Given the description of an element on the screen output the (x, y) to click on. 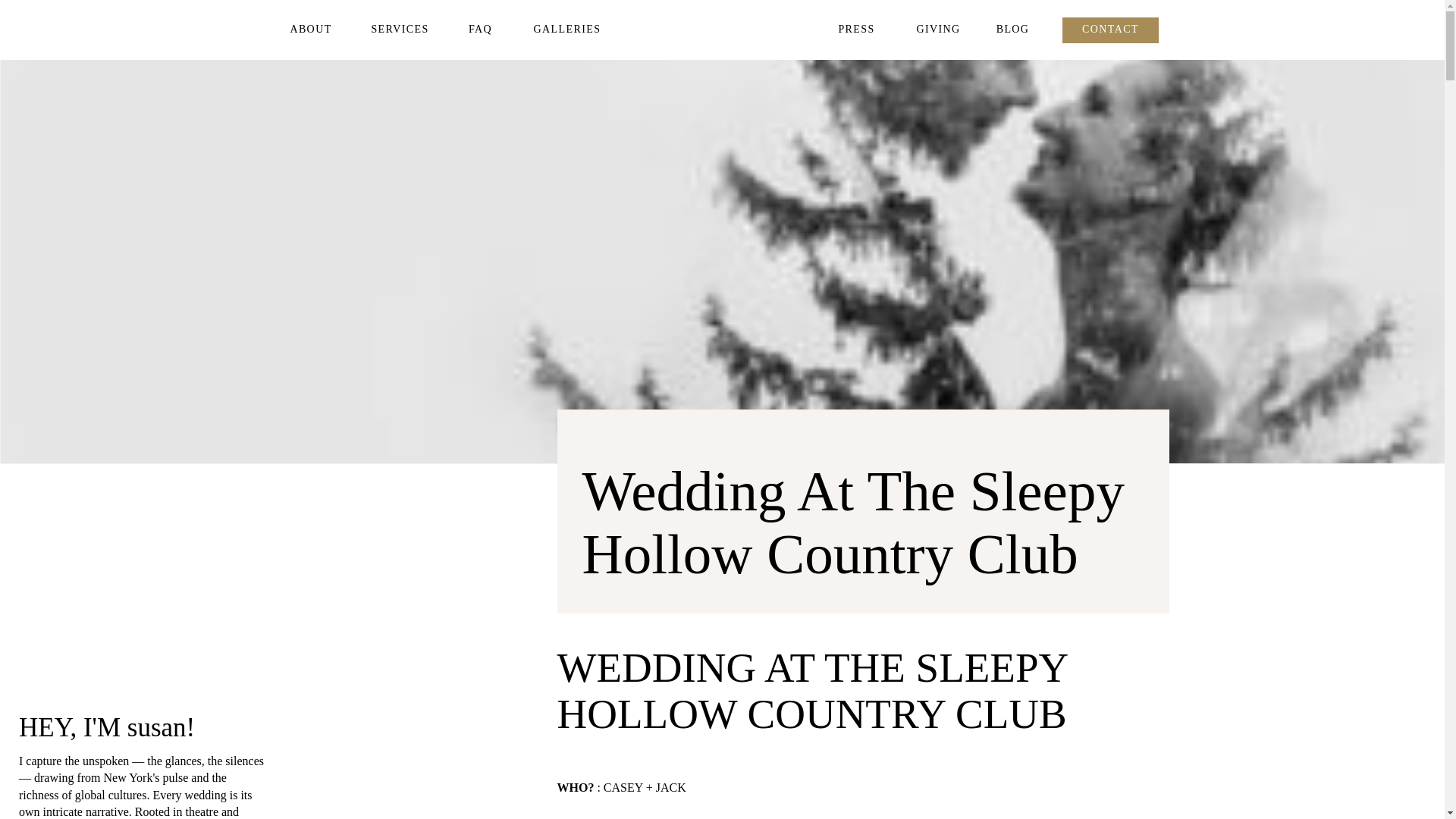
PRESS (855, 29)
SERVICES (399, 29)
FAQ (480, 29)
BLOG (1012, 29)
ABOUT (311, 29)
GALLERIES (566, 29)
CONTACT (1111, 29)
GIVING (937, 29)
